Given the description of an element on the screen output the (x, y) to click on. 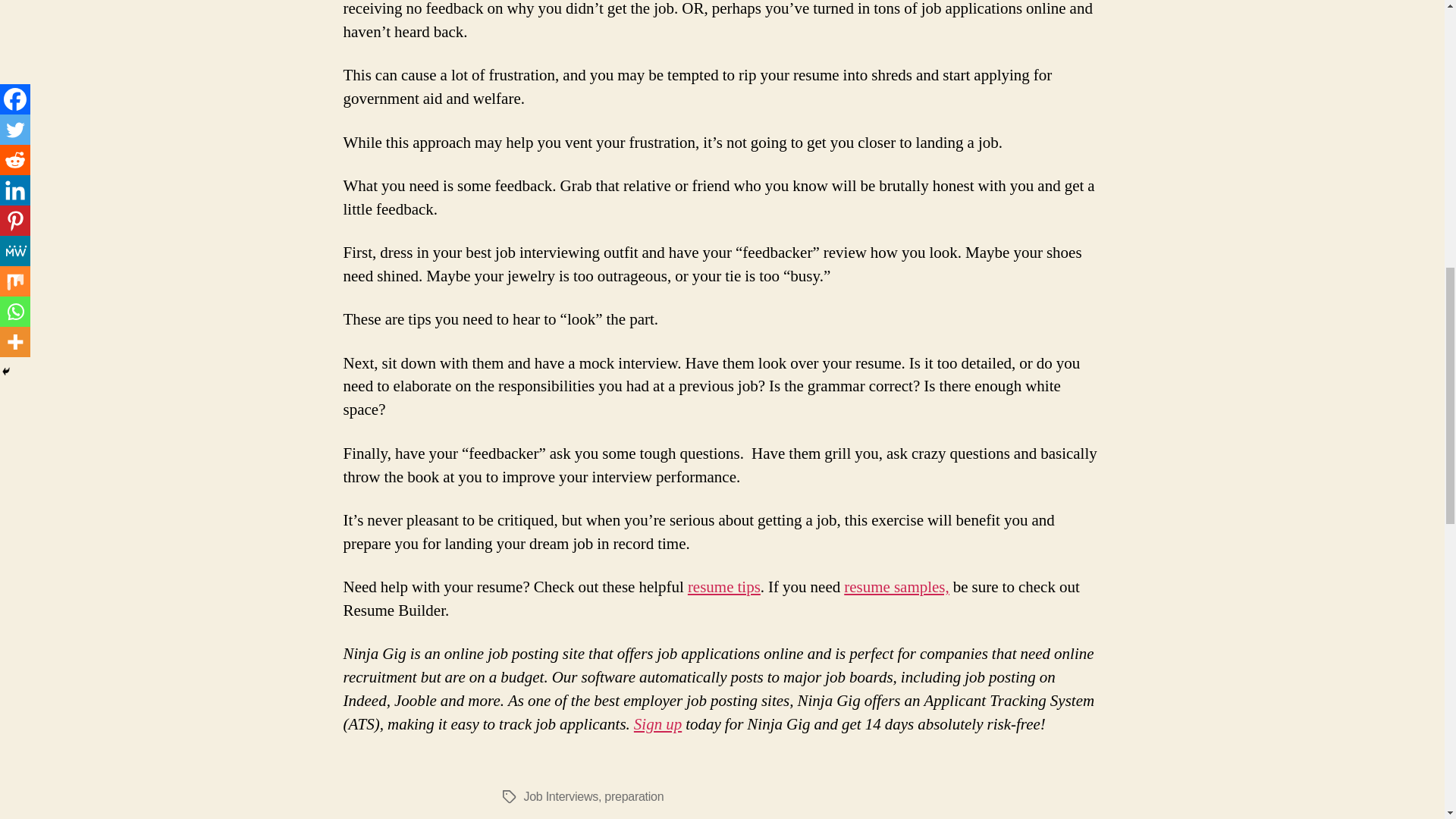
Sign up (657, 724)
resume samples, (896, 587)
resume tips (723, 587)
